Given the description of an element on the screen output the (x, y) to click on. 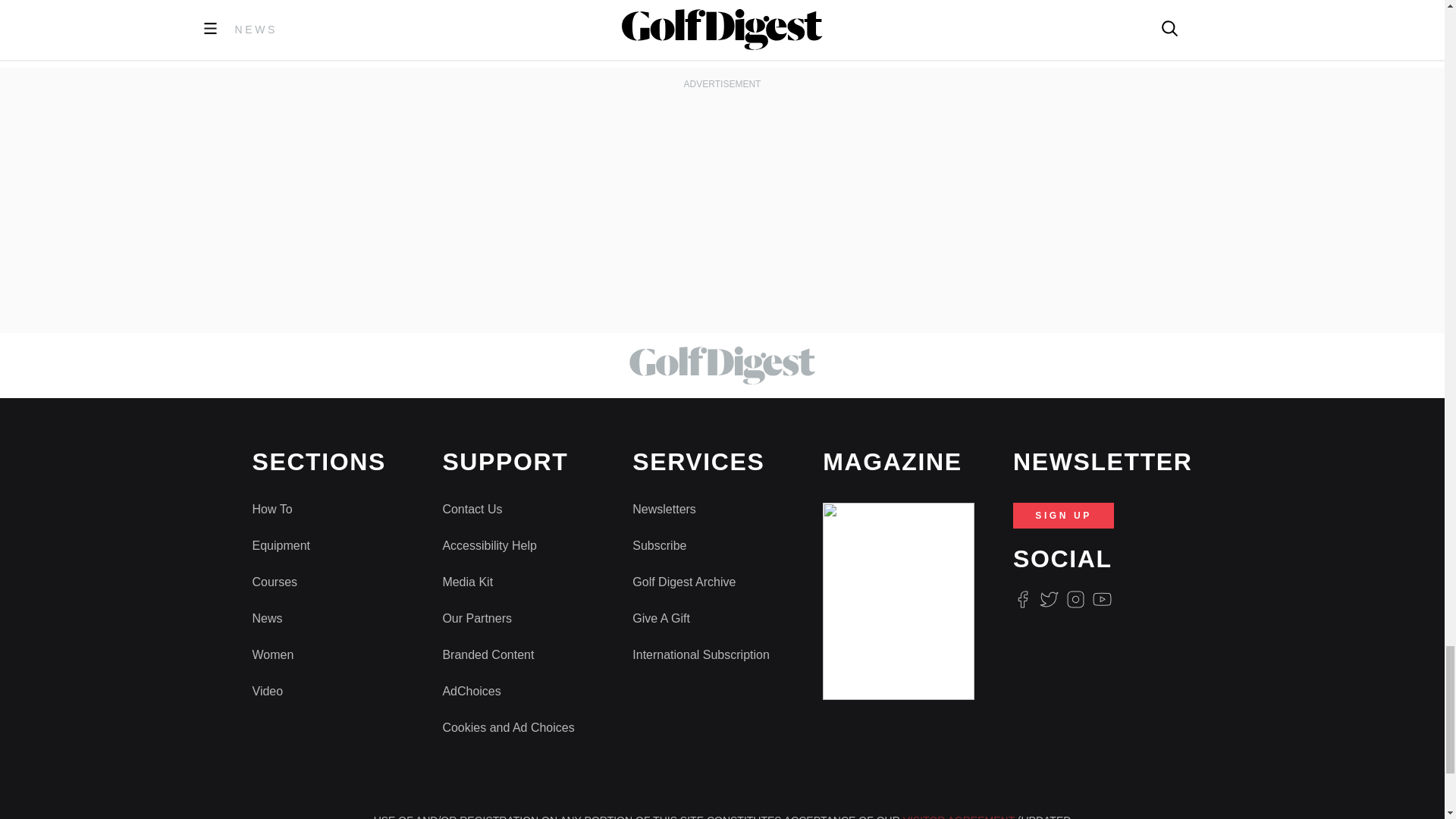
Youtube Icon (1102, 599)
Twitter Logo (1048, 599)
Instagram Logo (1074, 599)
Facebook Logo (1022, 599)
